Given the description of an element on the screen output the (x, y) to click on. 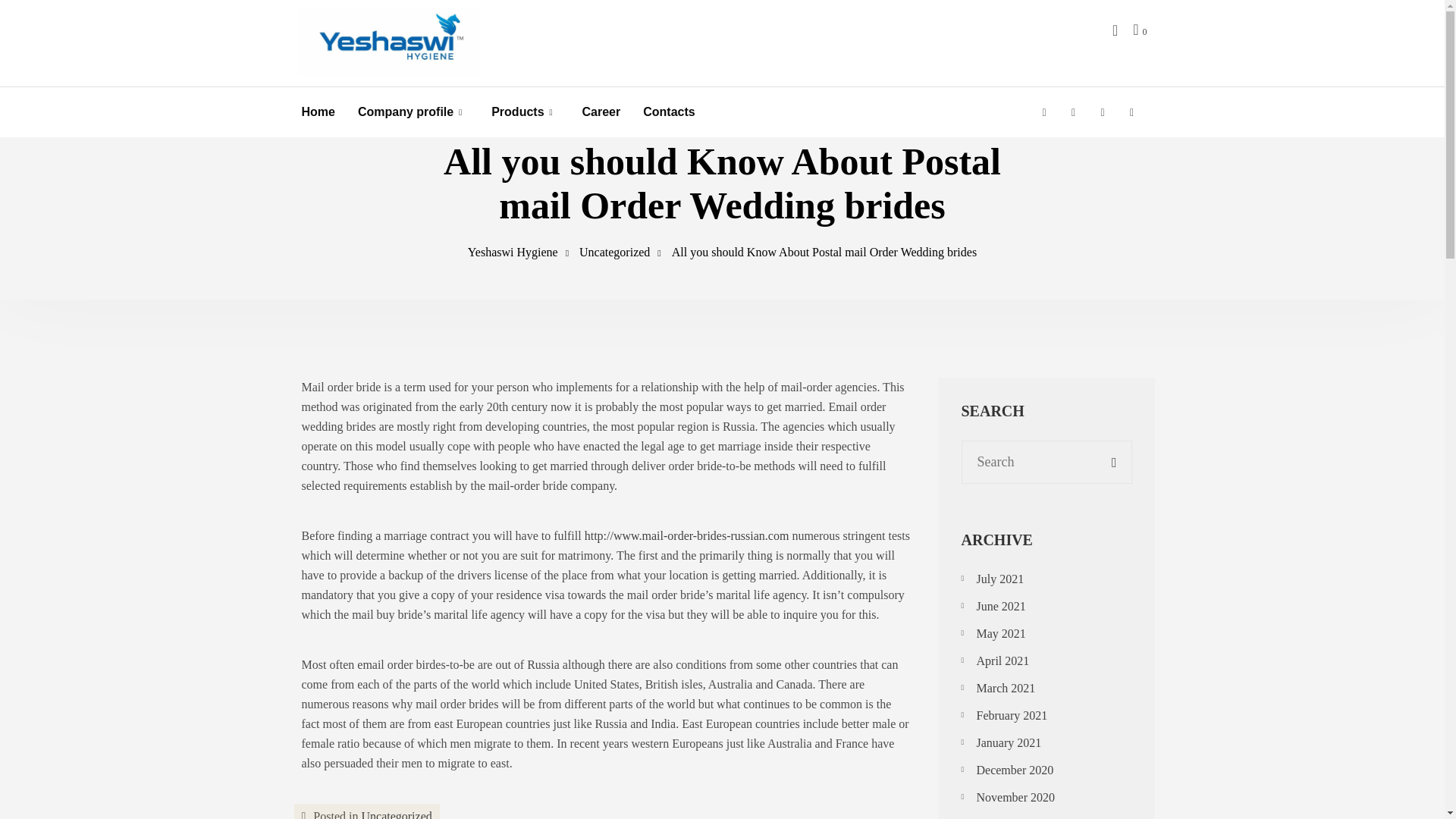
Go to the Uncategorized category archives. (614, 251)
Products (517, 112)
Yeshaswi Hygiene (512, 251)
0 (1139, 28)
Home (317, 112)
Company profile (405, 112)
Contacts (668, 112)
Go to Yeshaswi Hygiene. (512, 251)
Career (601, 112)
